Given the description of an element on the screen output the (x, y) to click on. 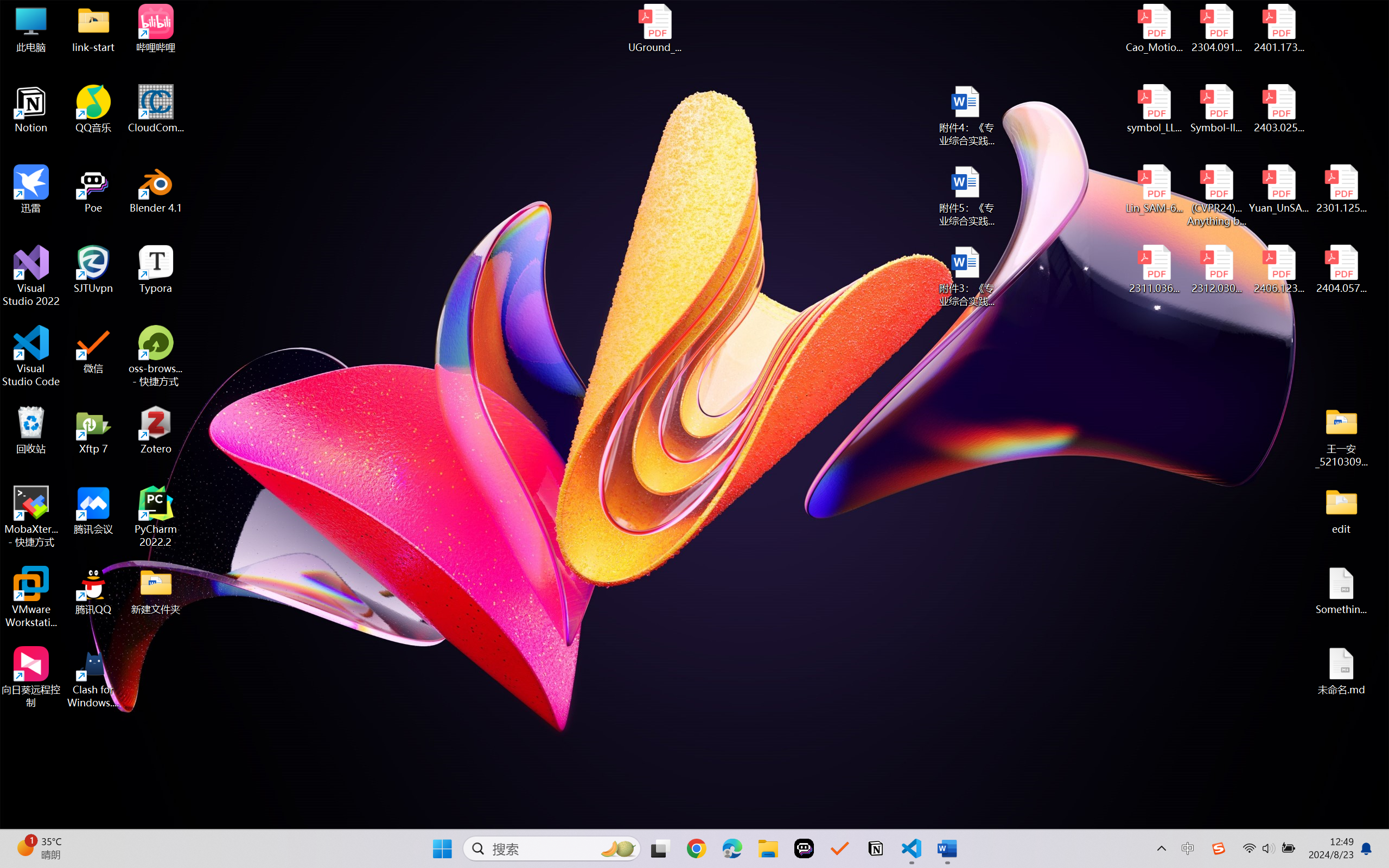
2301.12597v3.pdf (1340, 189)
Visual Studio 2022 (31, 276)
Visual Studio Code (31, 355)
2401.17399v1.pdf (1278, 28)
Symbol-llm-v2.pdf (1216, 109)
